Given the description of an element on the screen output the (x, y) to click on. 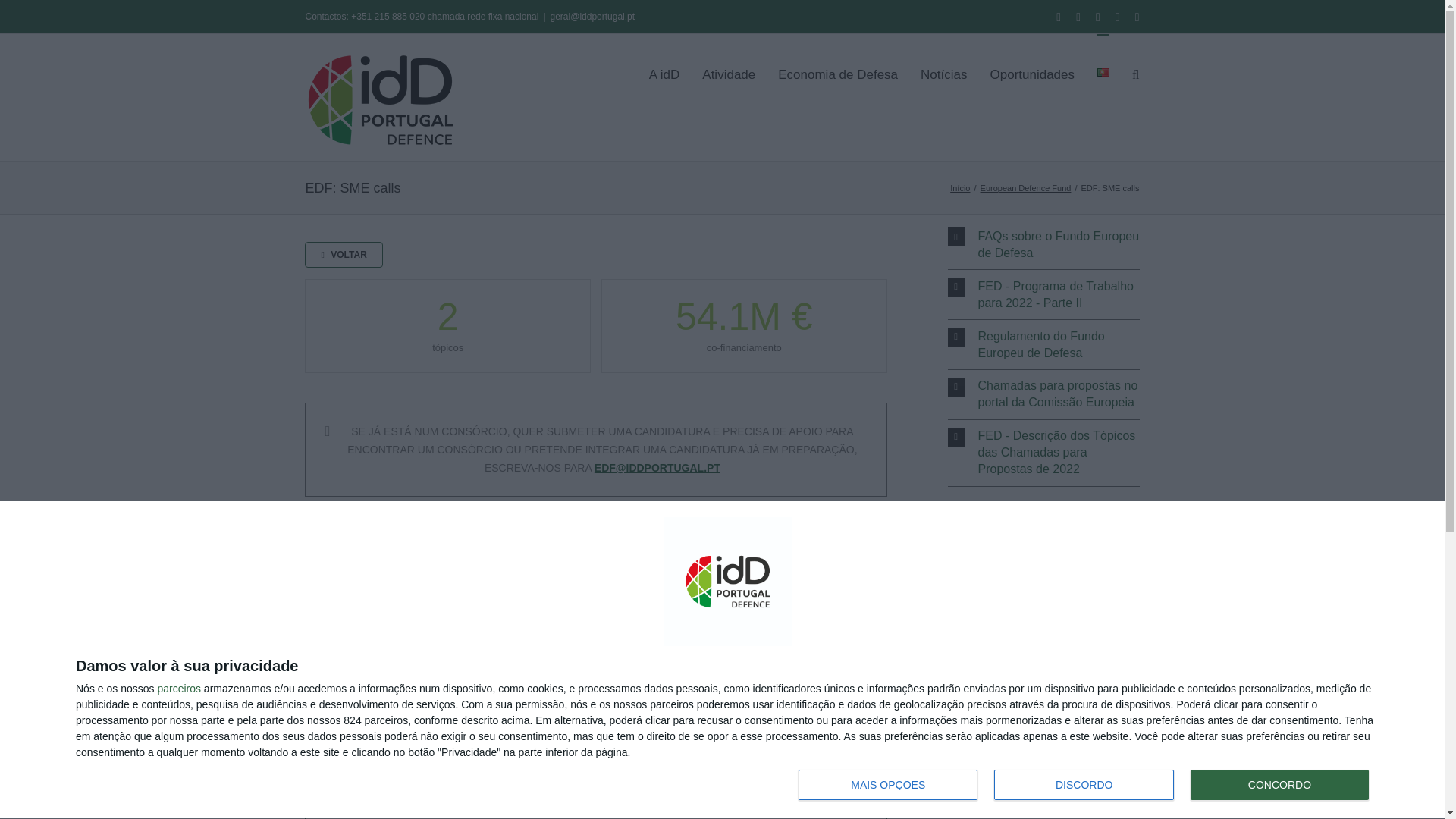
parceiros (178, 688)
DISCORDO (1083, 784)
CONCORDO (1279, 784)
Economia de Defesa (837, 73)
